Given the description of an element on the screen output the (x, y) to click on. 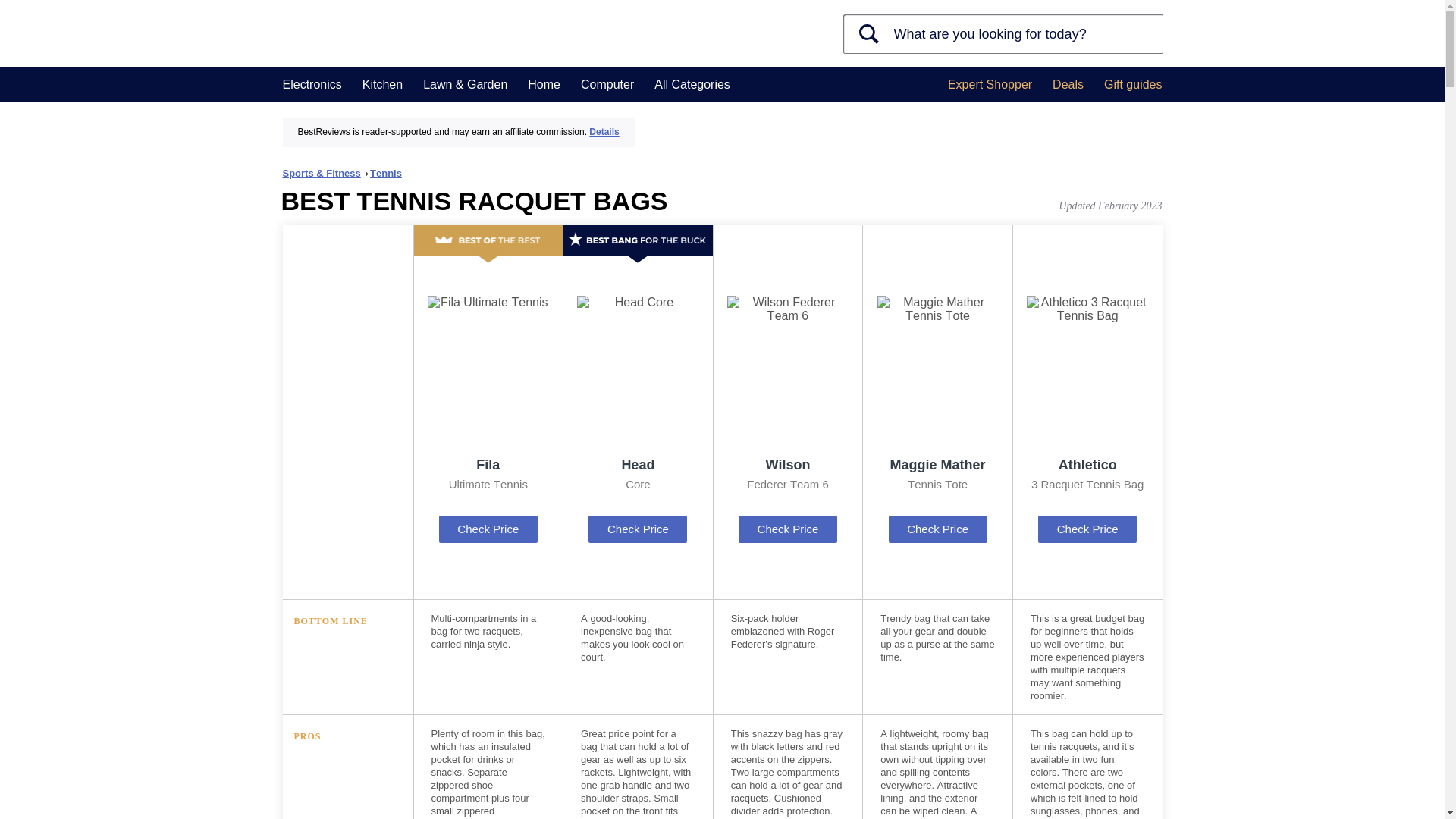
Computer (606, 84)
Electronics (311, 84)
Deals (1067, 84)
Gift guides (1132, 84)
Home (543, 84)
Expert Shopper (989, 84)
Kitchen (382, 84)
Tennis (385, 173)
All Categories (691, 84)
Details (603, 131)
